Given the description of an element on the screen output the (x, y) to click on. 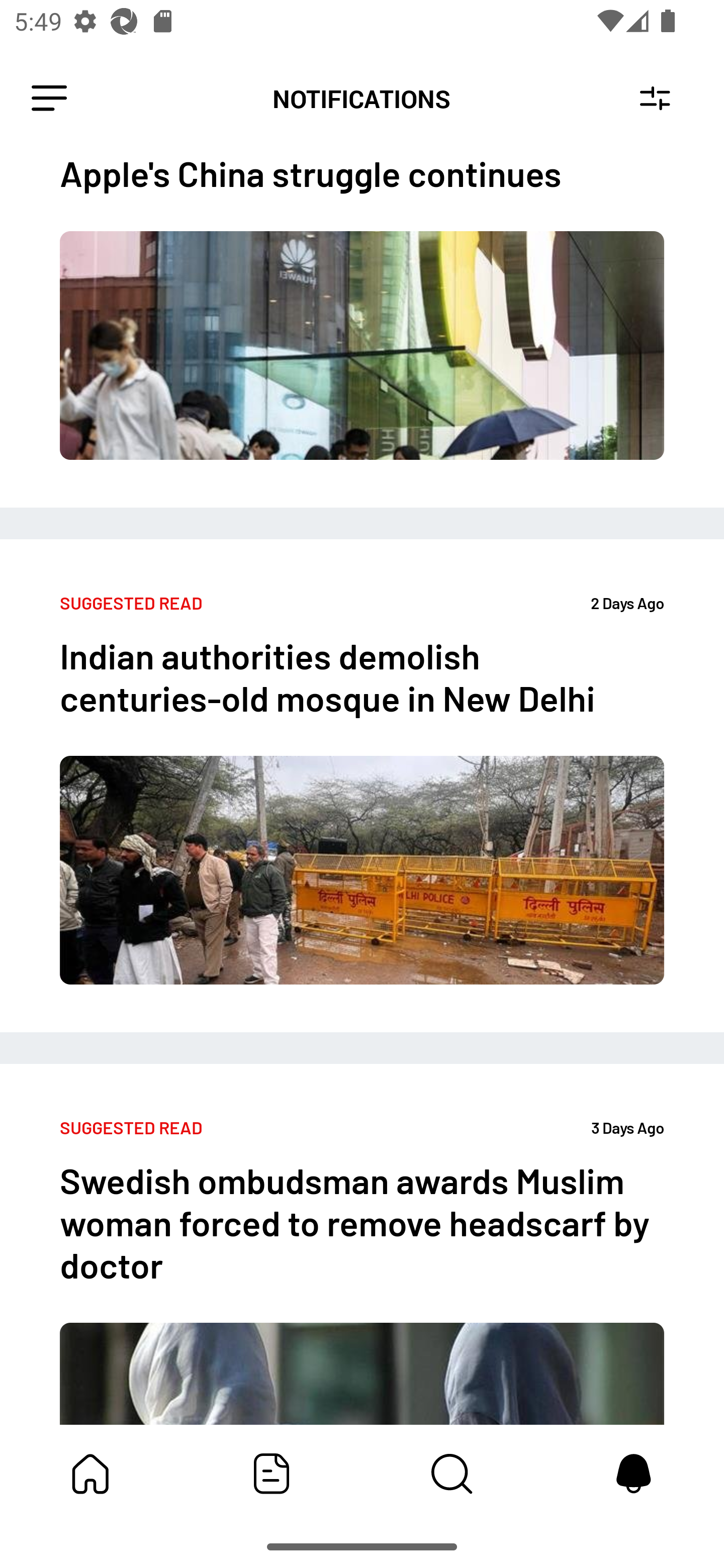
Leading Icon (49, 98)
Notification Settings (655, 98)
Apple's China struggle continues Image of the New (362, 331)
My Bundle (90, 1473)
Featured (271, 1473)
Content Store (452, 1473)
